Given the description of an element on the screen output the (x, y) to click on. 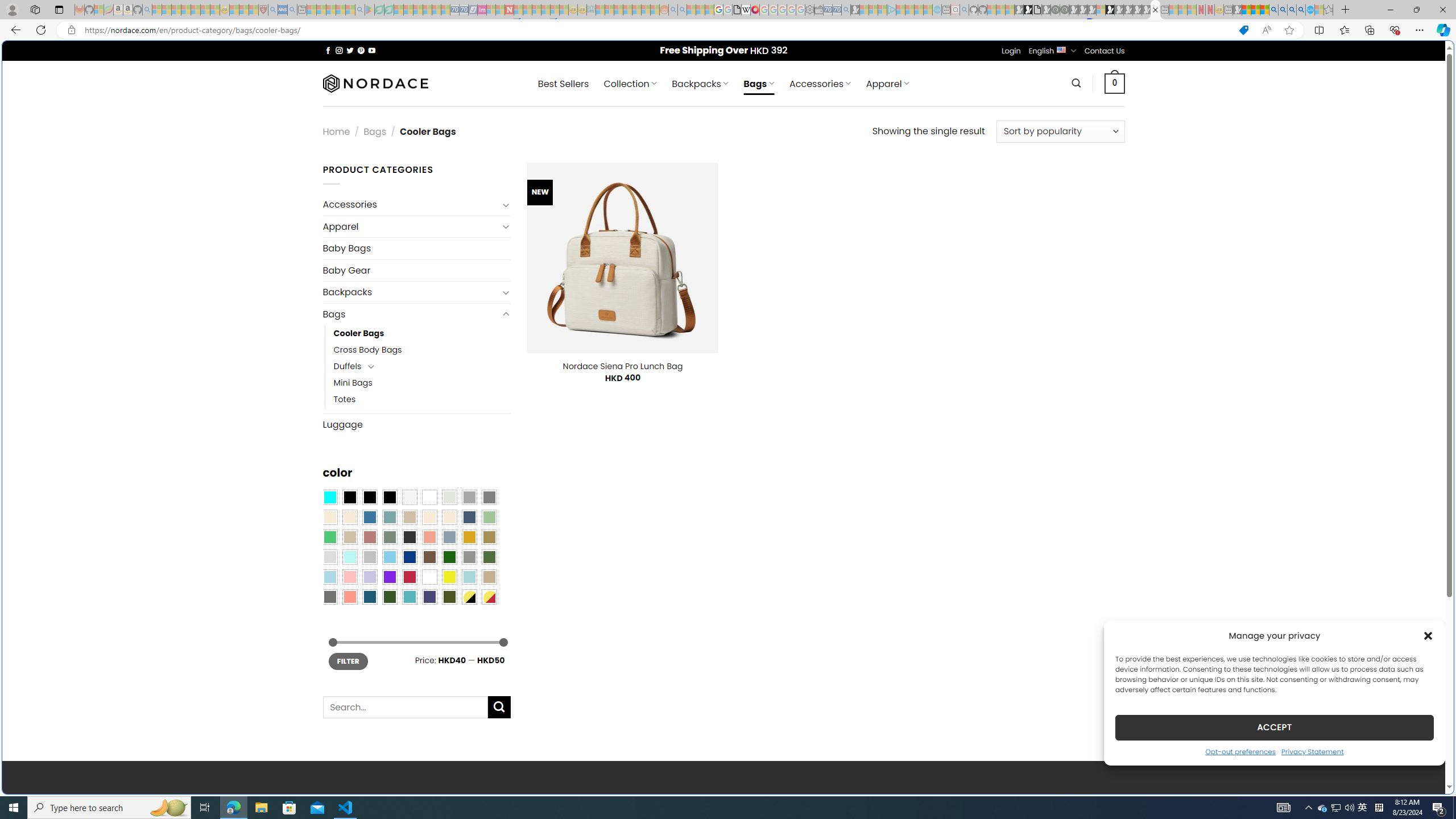
Bags (410, 314)
Blue (369, 517)
Backpacks (410, 292)
